Given the description of an element on the screen output the (x, y) to click on. 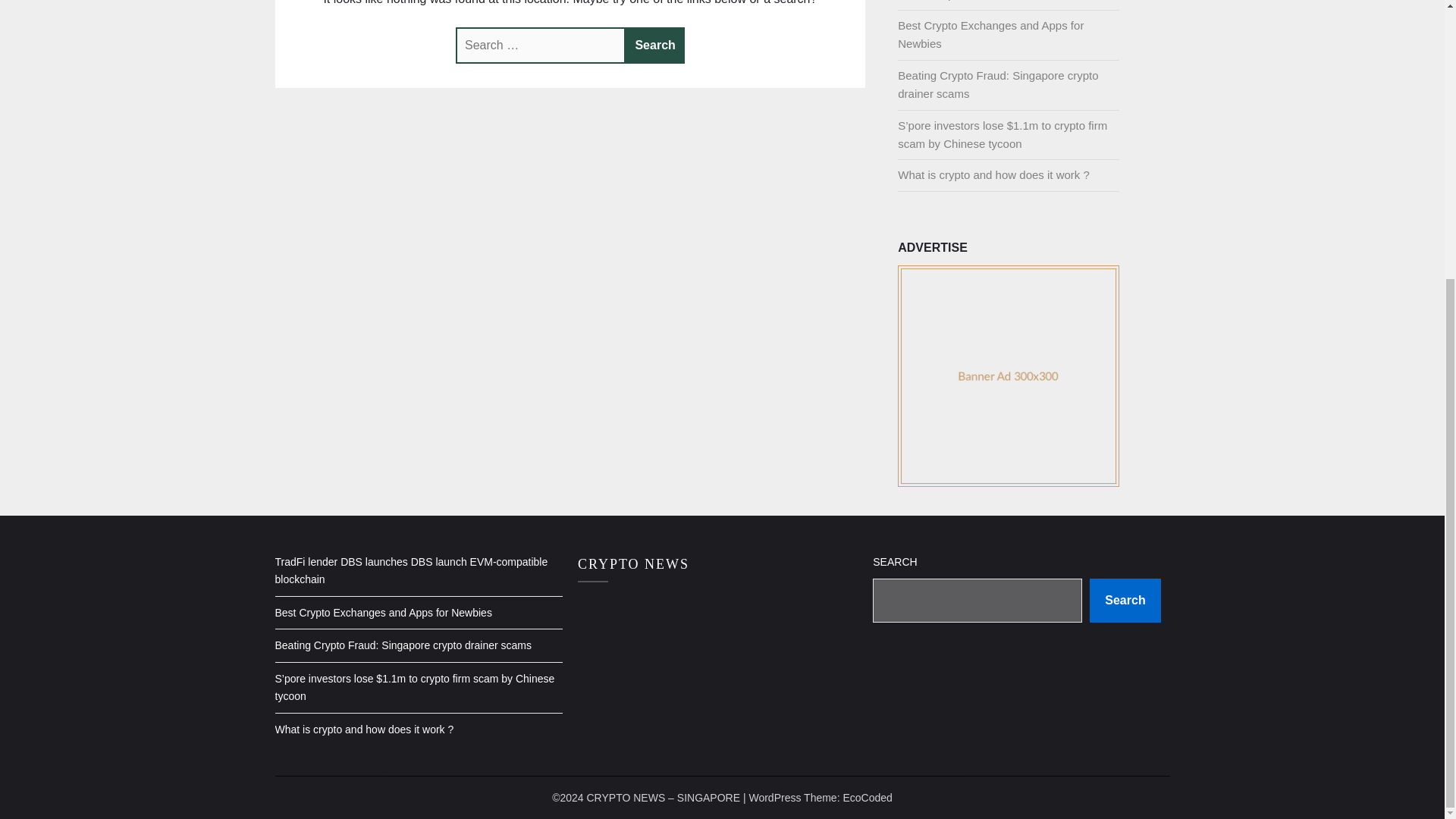
Search (655, 45)
Search (1124, 600)
Beating Crypto Fraud: Singapore crypto drainer scams (403, 645)
Search (655, 45)
What is crypto and how does it work ? (993, 174)
What is crypto and how does it work ? (363, 729)
Best Crypto Exchanges and Apps for Newbies (383, 612)
EcoCoded (867, 797)
Best Crypto Exchanges and Apps for Newbies (990, 33)
